Given the description of an element on the screen output the (x, y) to click on. 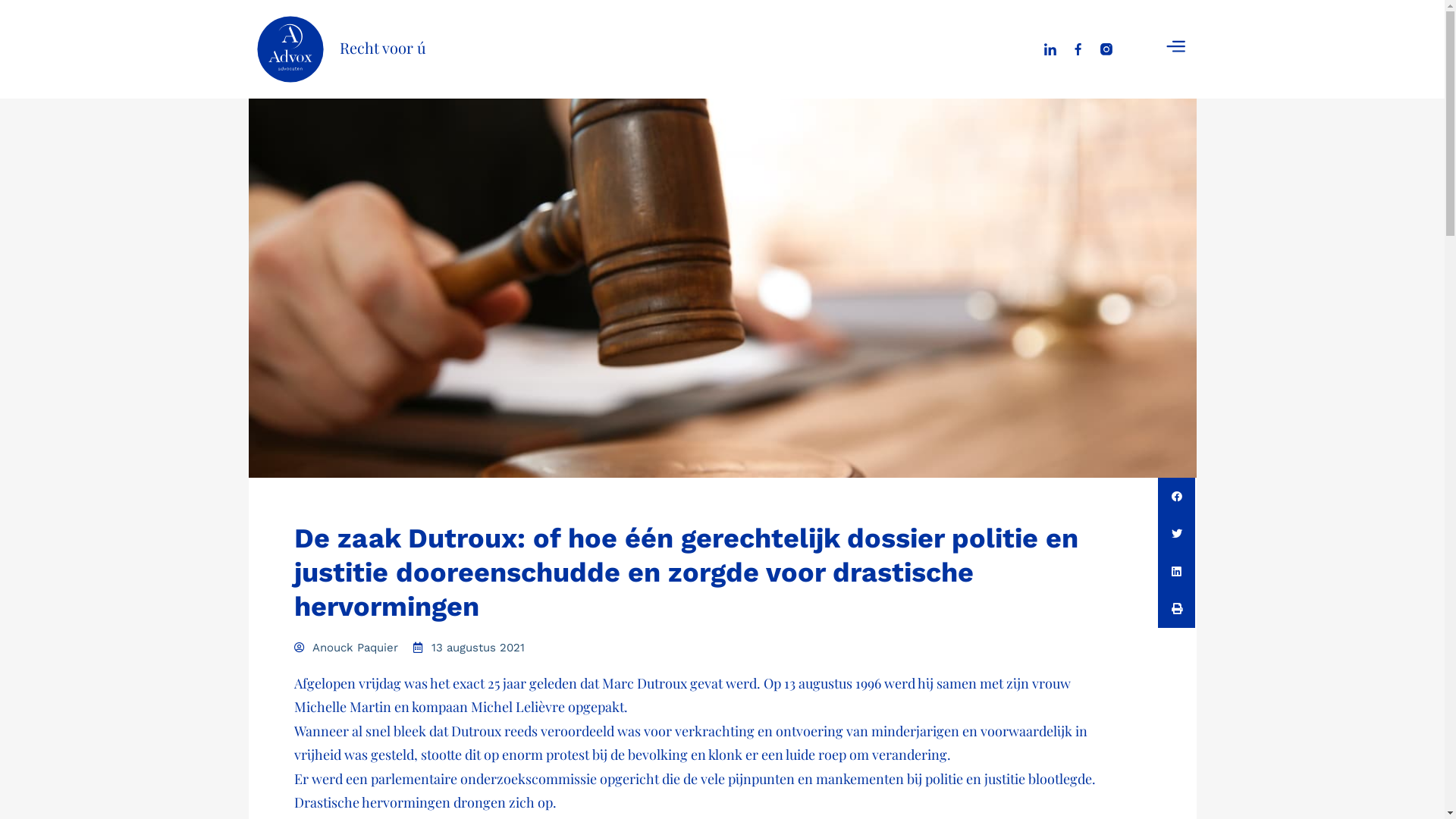
Anouck Paquier Element type: text (346, 647)
13 augustus 2021 Element type: text (468, 647)
